Given the description of an element on the screen output the (x, y) to click on. 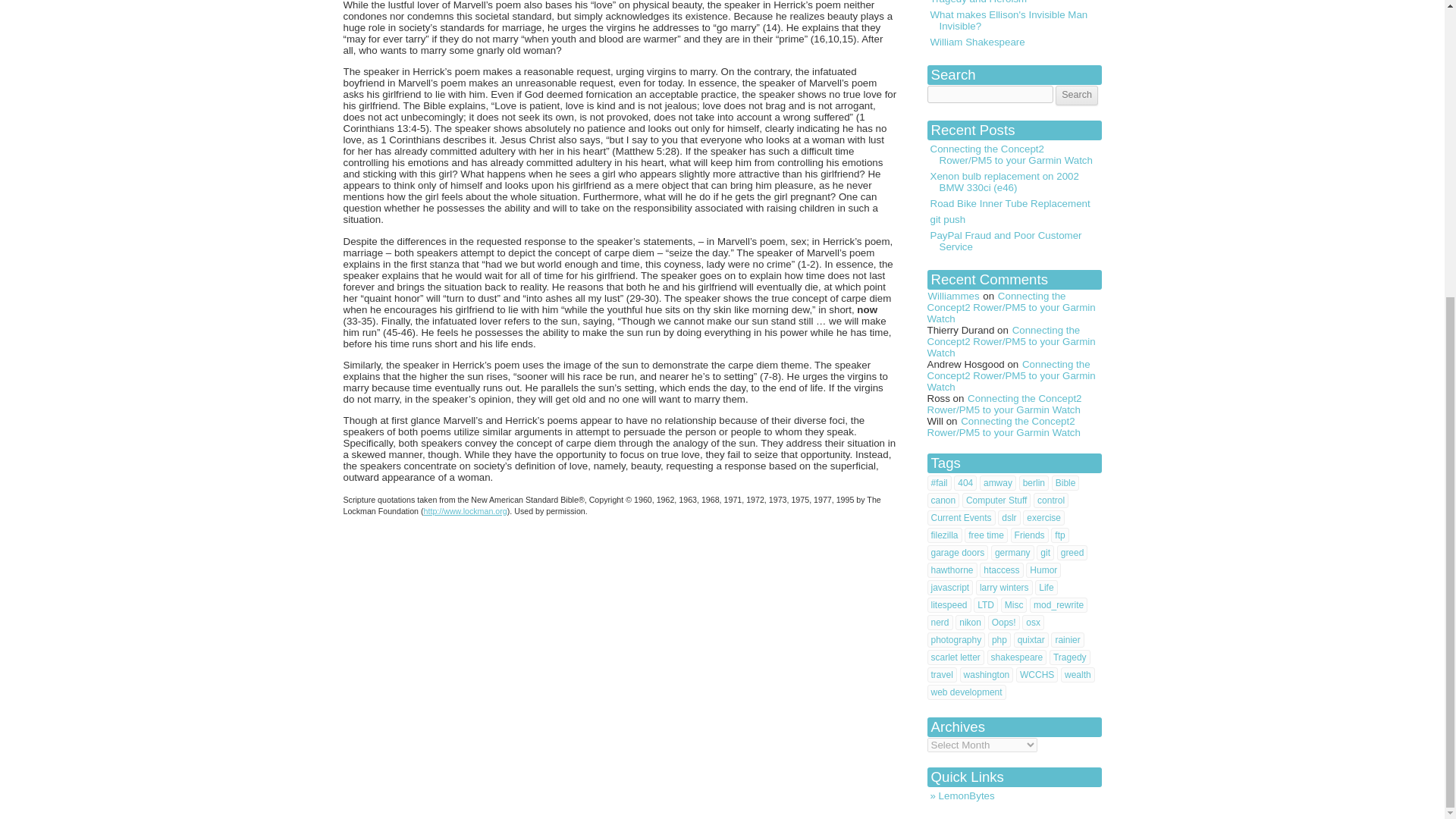
Search (1076, 95)
Search (1076, 95)
git push (1013, 219)
PayPal Fraud and Poor Customer Service (1013, 240)
Road Bike Inner Tube Replacement (1013, 203)
404 (964, 482)
What makes Ellison's Invisible Man Invisible? (1013, 20)
William Shakespeare (1013, 41)
Tragedy and Heroism (1013, 3)
Williammes (952, 295)
